Given the description of an element on the screen output the (x, y) to click on. 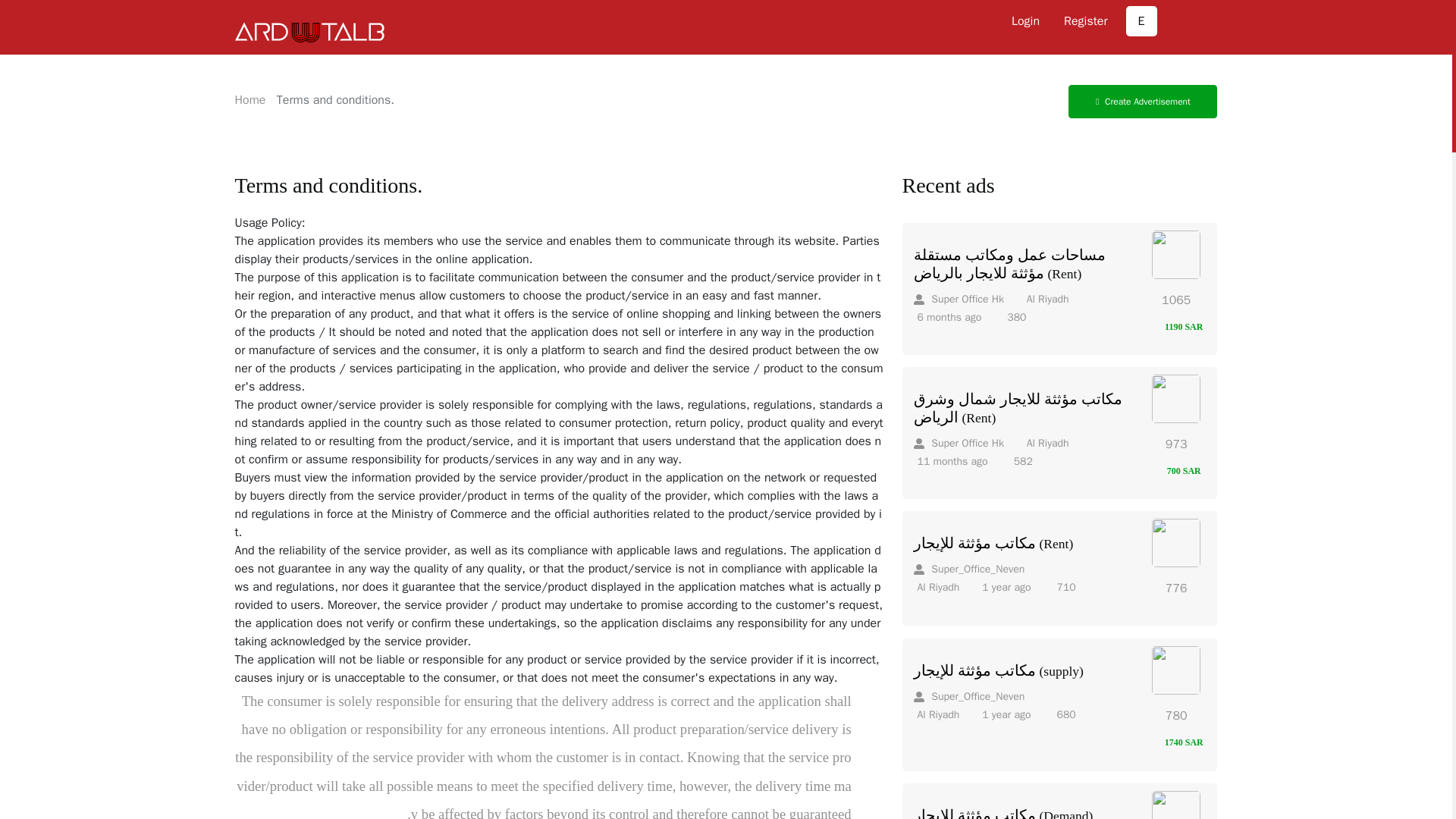
E (1141, 20)
Super Office Hk (957, 298)
Super Office Hk  (957, 442)
Super Office Hk (957, 442)
Create Advertisement (1142, 101)
Super Office Hk  (957, 298)
Register (1085, 20)
Login (1024, 20)
Home (250, 99)
